Given the description of an element on the screen output the (x, y) to click on. 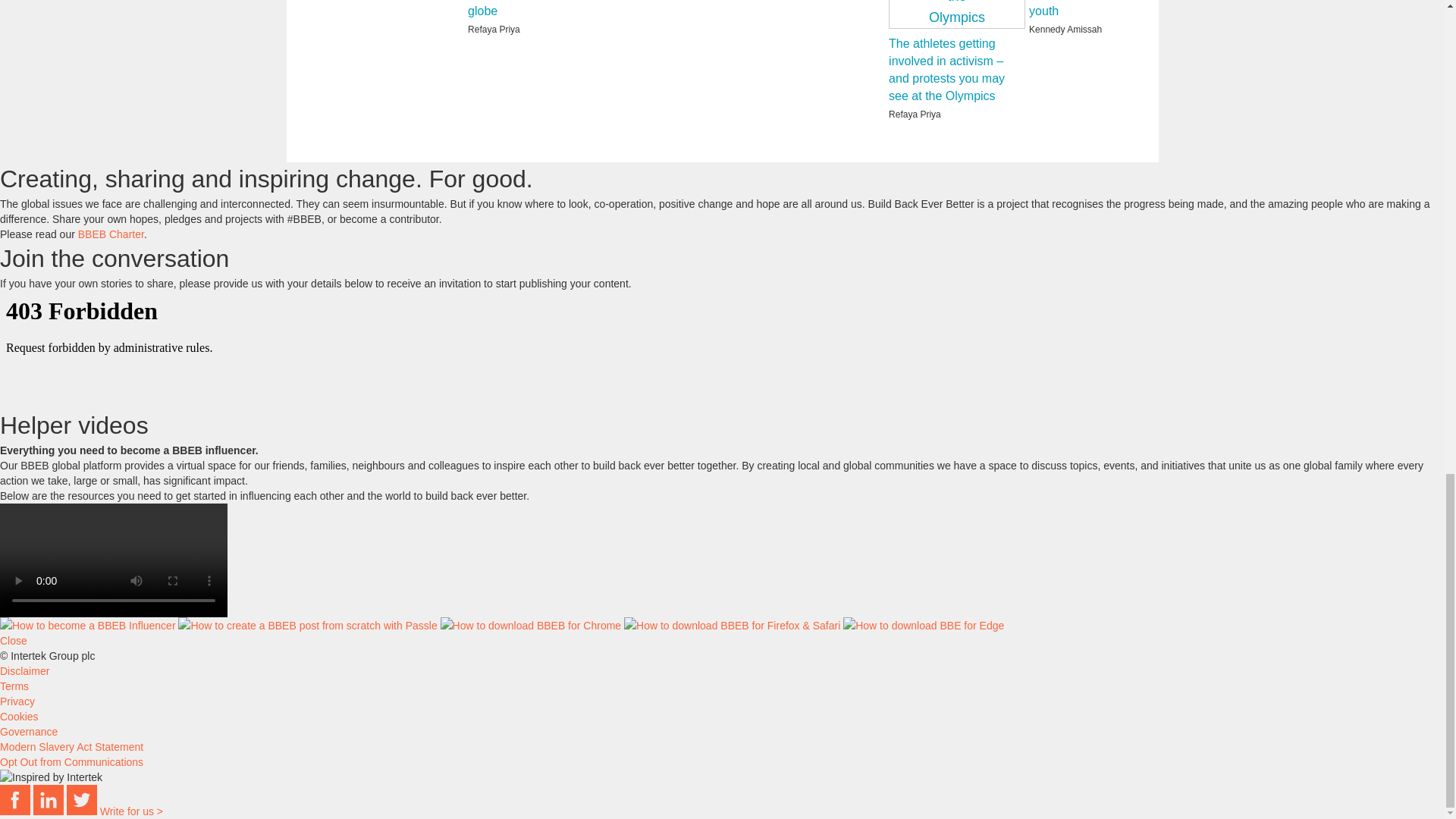
Opt Out from Communications (71, 761)
Cookies (19, 716)
Terms (14, 686)
Modern Slavery Act Statement (71, 746)
Disclaimer (24, 671)
Editorial Guidelines and Governance (29, 731)
Privacy (17, 701)
